Given the description of an element on the screen output the (x, y) to click on. 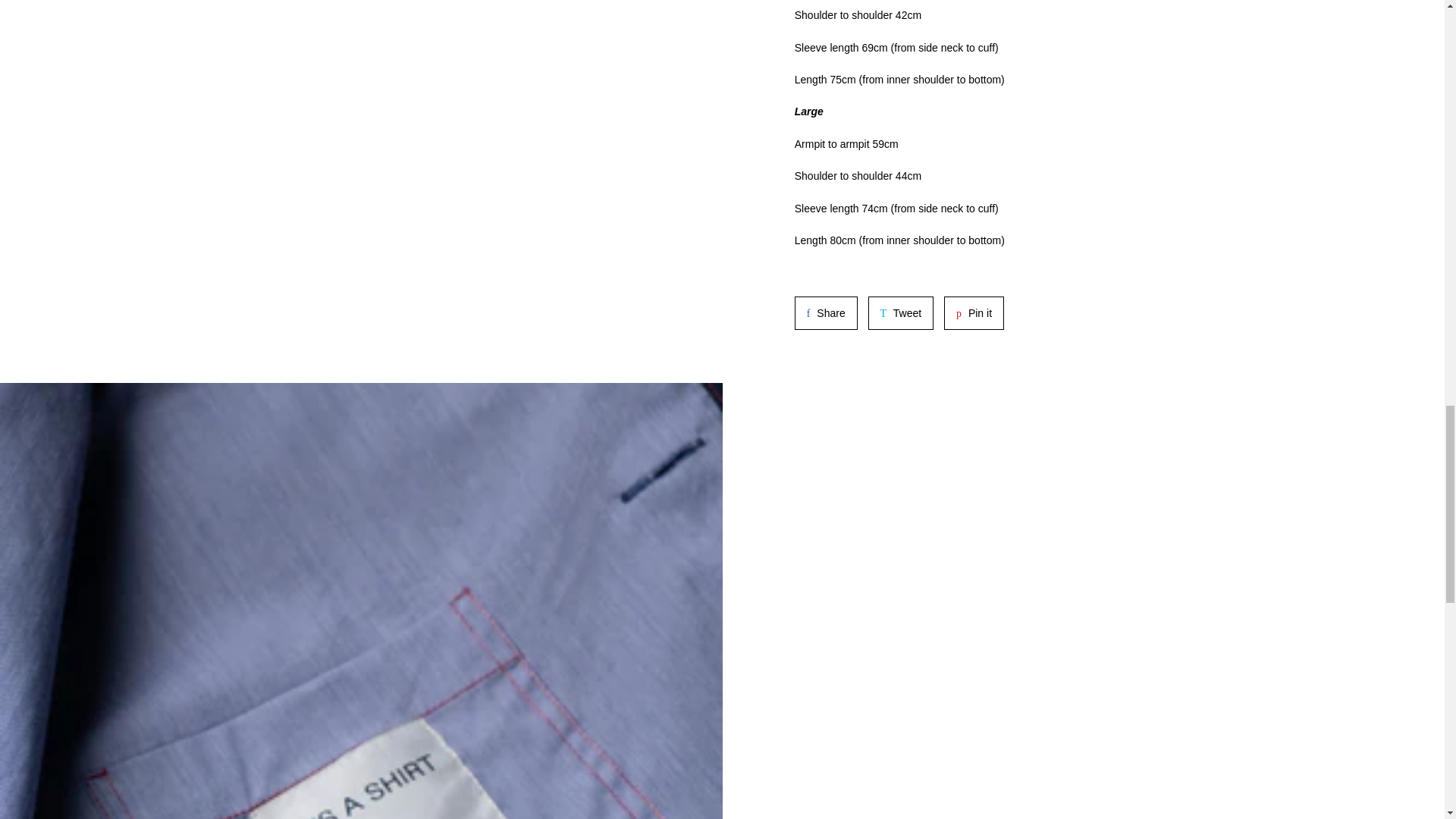
Pin on Pinterest (973, 313)
Tweet on Twitter (973, 313)
Share on Facebook (900, 313)
